Given the description of an element on the screen output the (x, y) to click on. 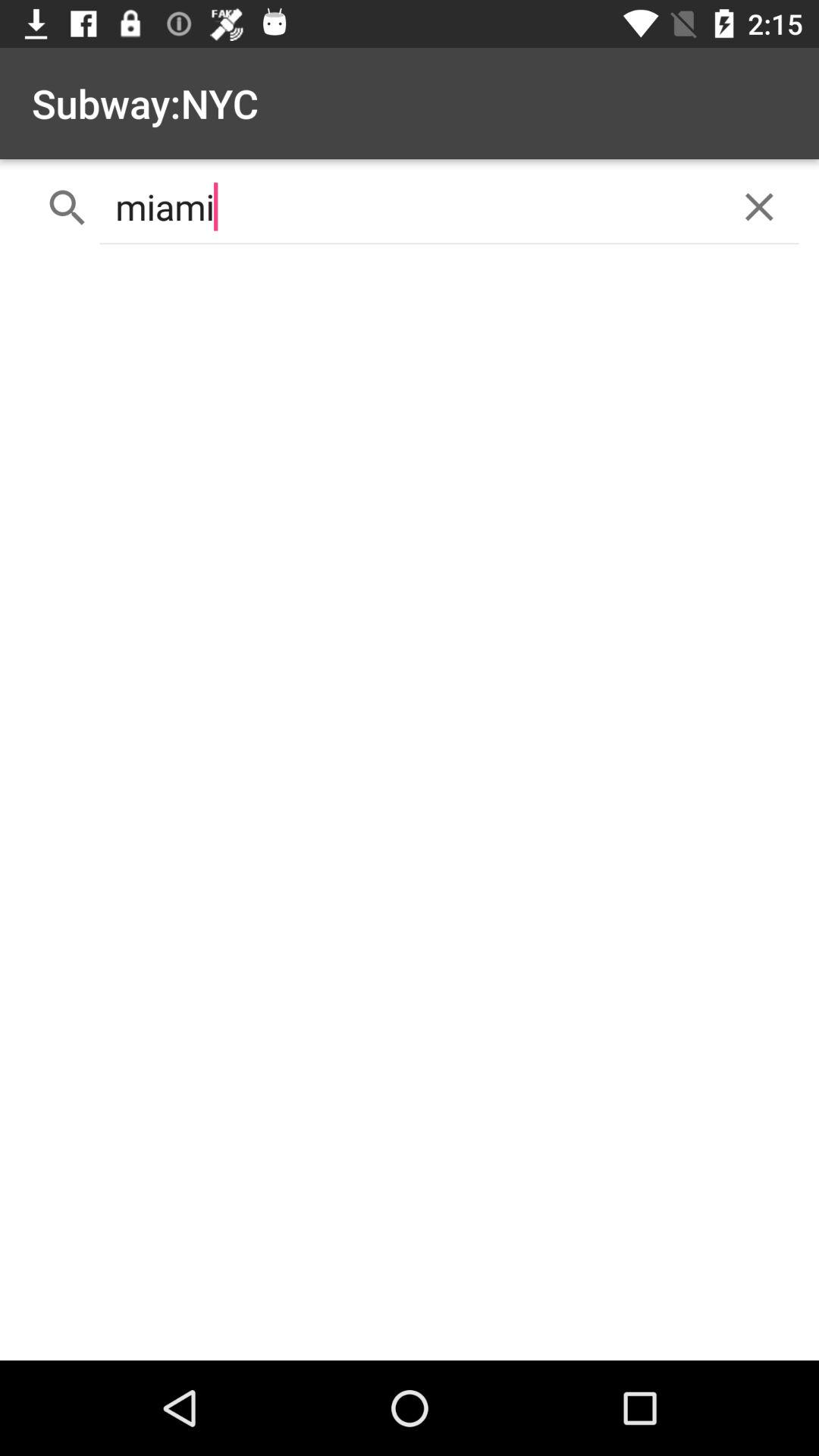
flip to miami icon (409, 206)
